Given the description of an element on the screen output the (x, y) to click on. 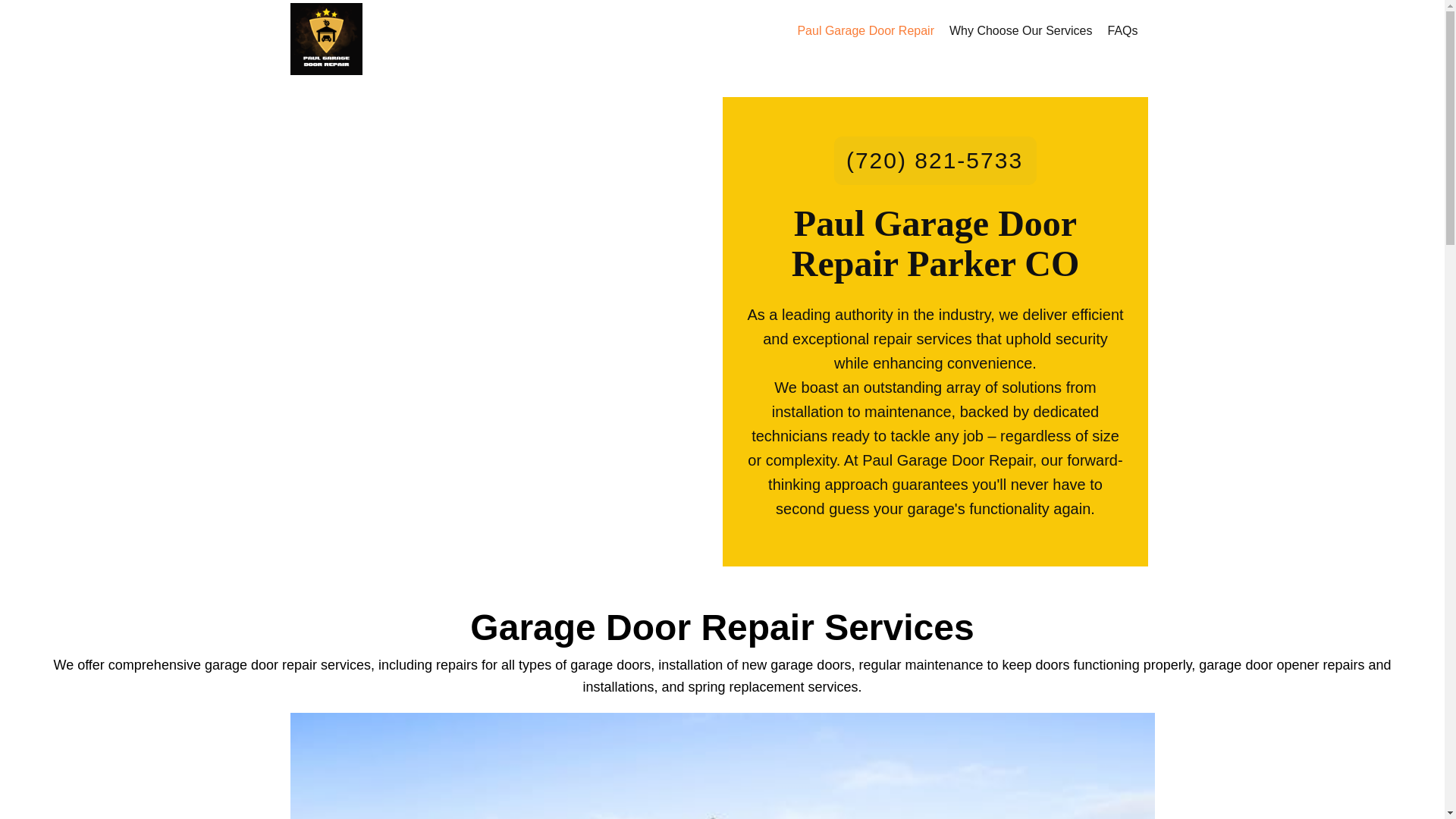
FAQs (1121, 31)
Why Choose Our Services (1021, 31)
Paul Garage Door Repair (865, 31)
Paul Garage Door Repair (325, 39)
